Given the description of an element on the screen output the (x, y) to click on. 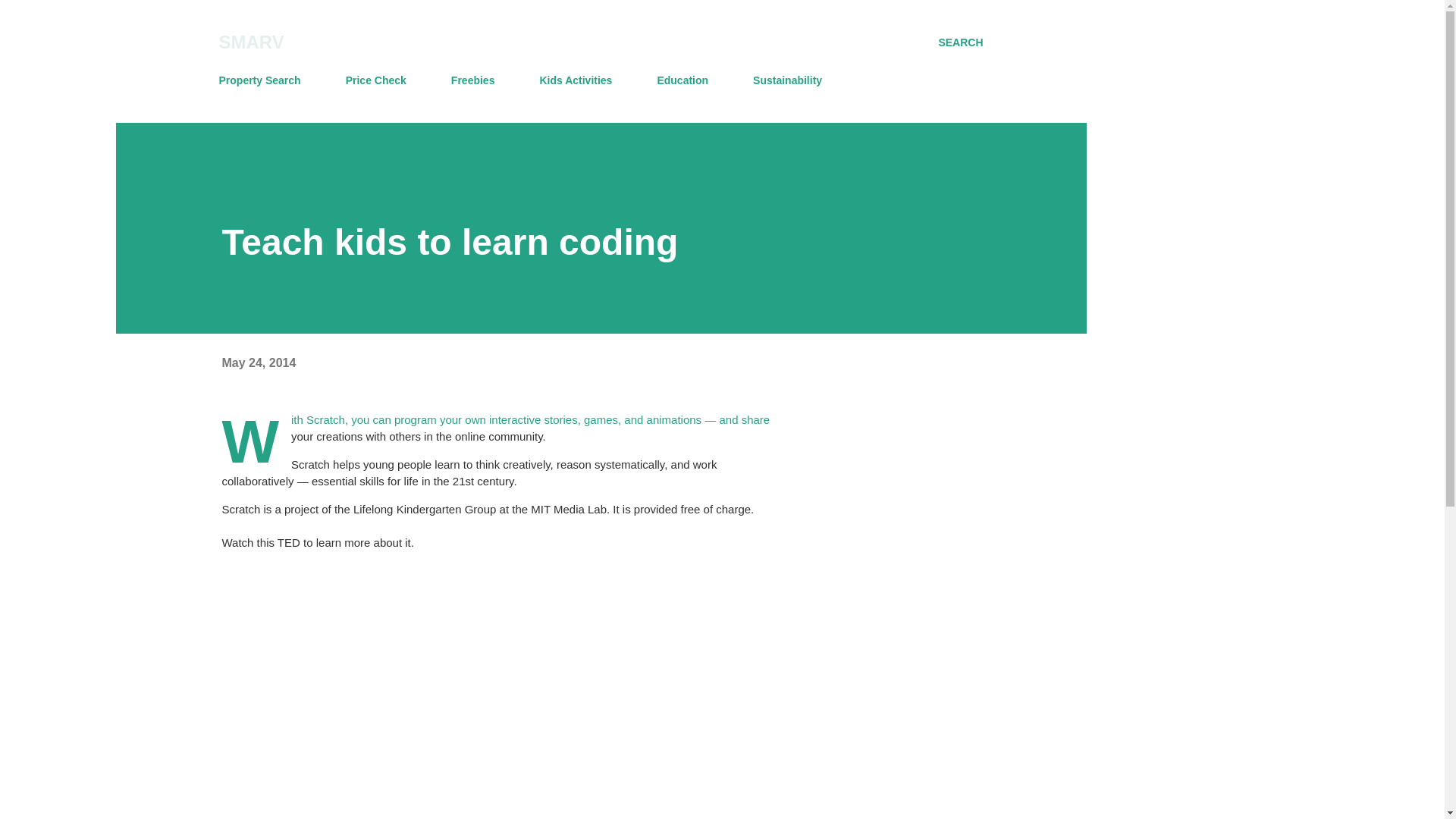
Education (682, 80)
Sustainability (787, 80)
SMARV (250, 41)
Price Check (375, 80)
Kids Activities (575, 80)
May 24, 2014 (258, 362)
Property Search (263, 80)
SEARCH (959, 42)
Freebies (472, 80)
permanent link (258, 362)
